Given the description of an element on the screen output the (x, y) to click on. 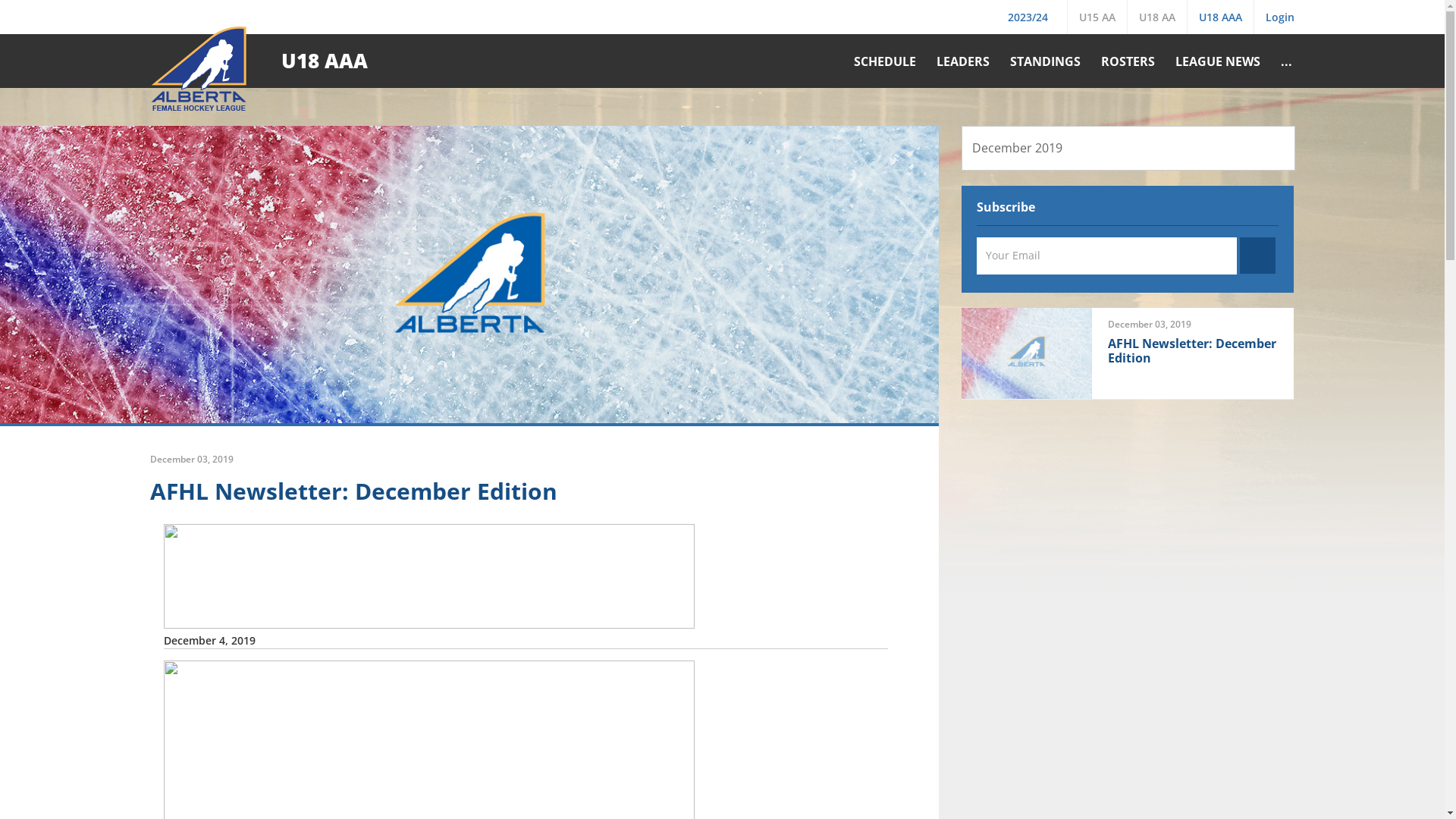
LEADERS Element type: text (961, 60)
Login   Element type: text (1281, 16)
AFHL Newsletter: December Edition Element type: text (353, 490)
U18 AAA Element type: text (1219, 17)
LEAGUE NEWS Element type: text (1215, 60)
SCHEDULE Element type: text (882, 60)
ROSTERS Element type: text (1125, 60)
... Element type: text (1284, 60)
STANDINGS Element type: text (1042, 60)
U18 AA Element type: text (1156, 17)
U15 AA Element type: text (1096, 17)
U18 AAA Element type: text (323, 60)
